Given the description of an element on the screen output the (x, y) to click on. 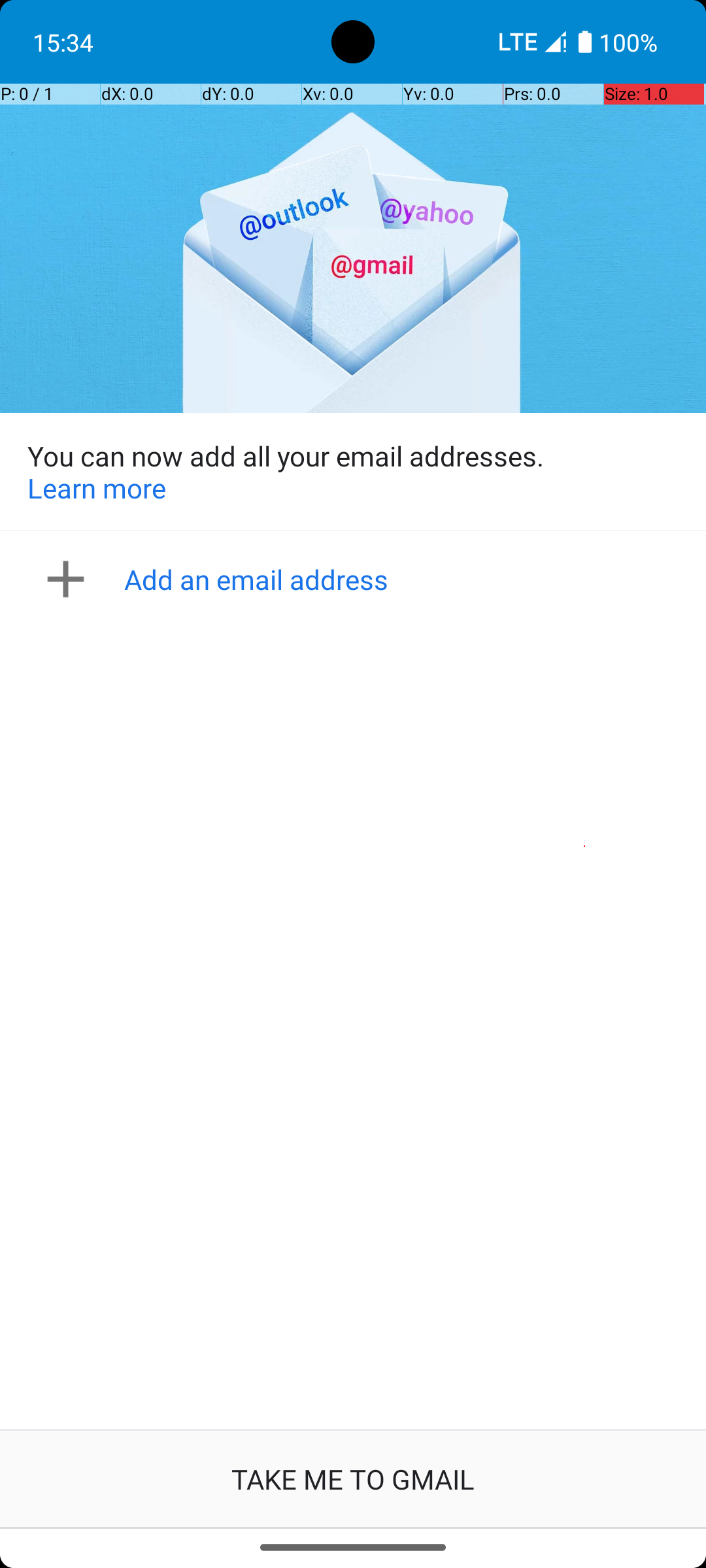
You can now add all your email addresses. Learn more Element type: android.widget.TextView (352, 471)
TAKE ME TO GMAIL Element type: android.widget.TextView (353, 1478)
Add an email address Element type: android.widget.TextView (356, 579)
